Given the description of an element on the screen output the (x, y) to click on. 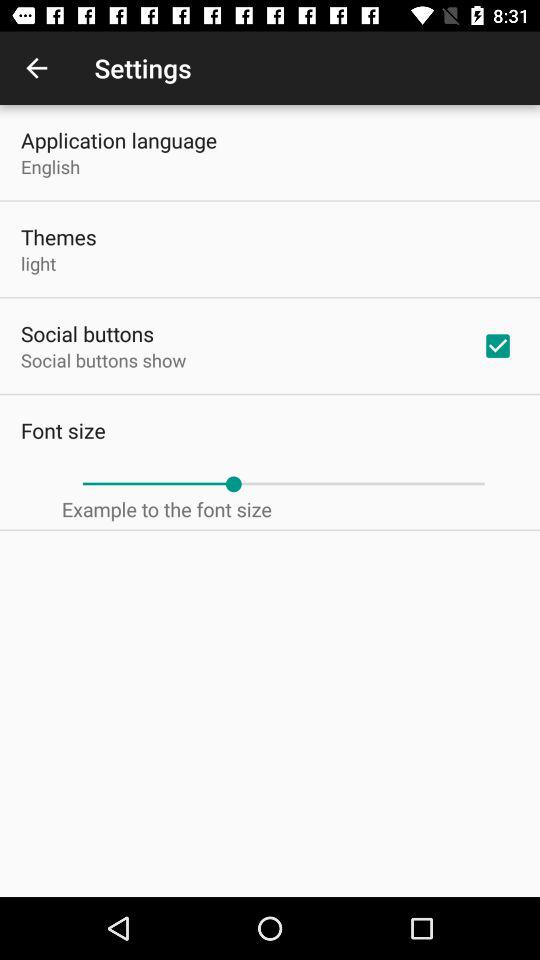
open example to the (166, 509)
